Given the description of an element on the screen output the (x, y) to click on. 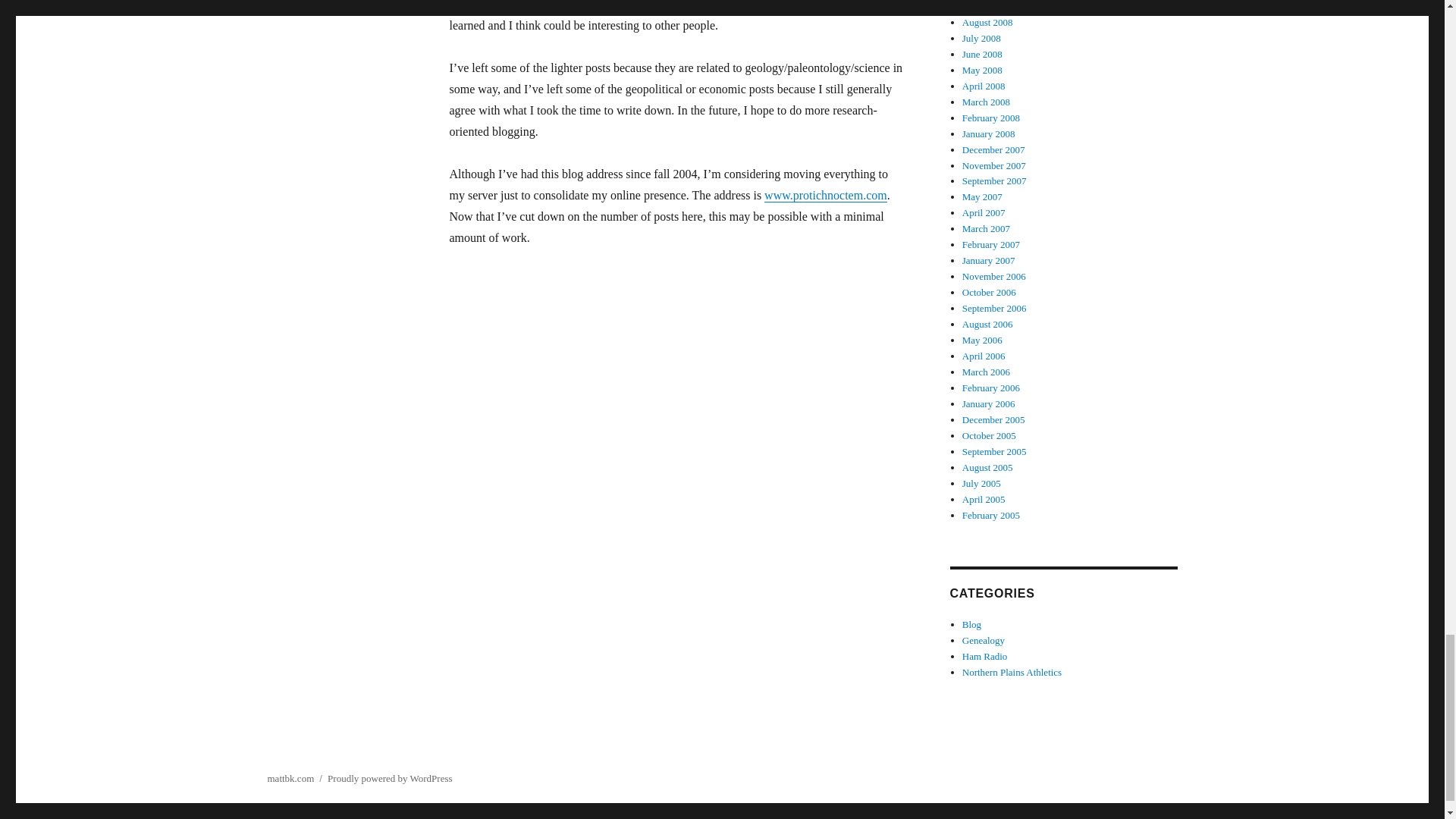
www.protichnoctem.com (825, 195)
